Given the description of an element on the screen output the (x, y) to click on. 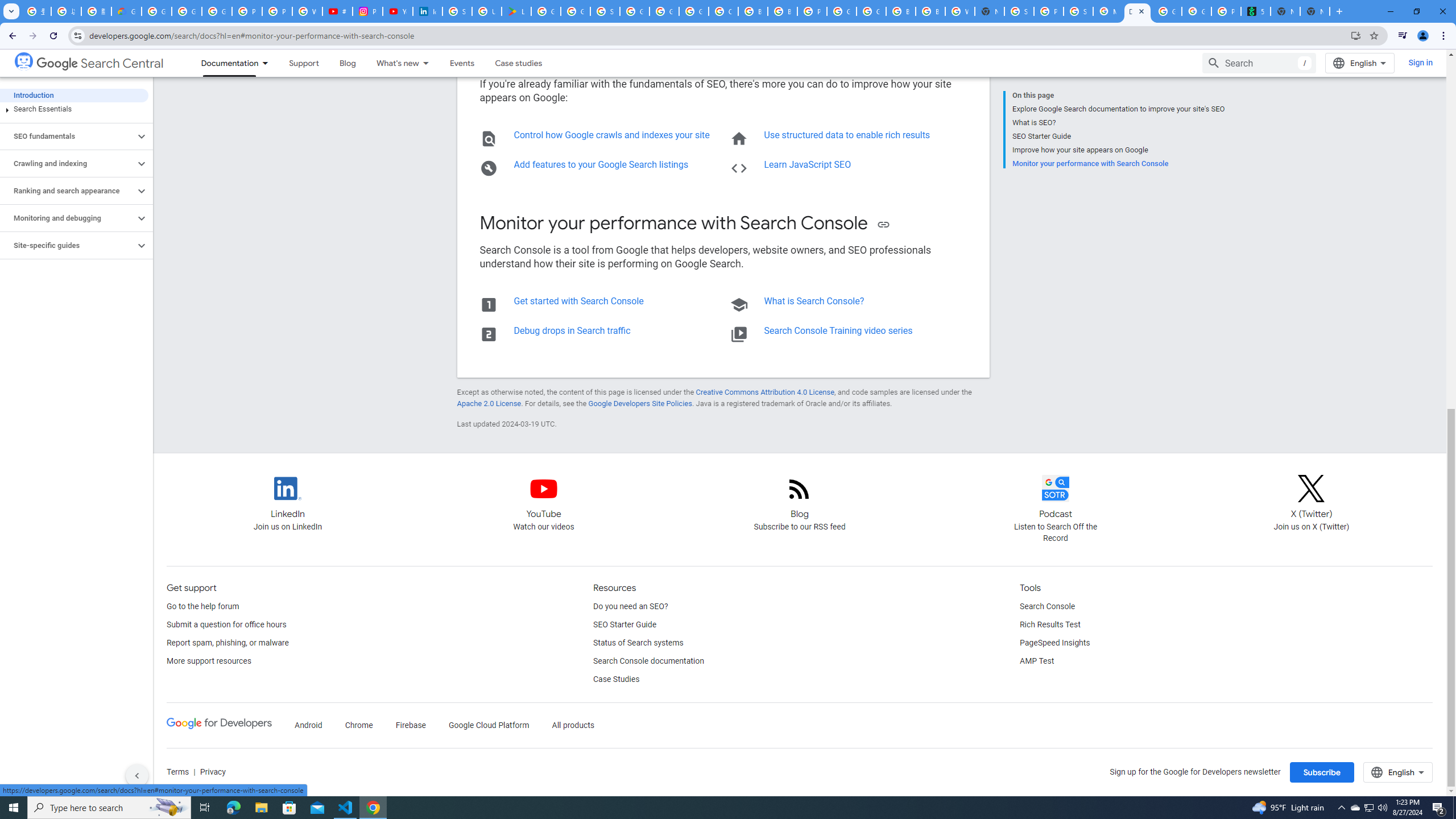
Search Console (1047, 606)
X (Twitter) (1310, 488)
Dropdown menu for Documentation (268, 62)
Google Search Central YouTube channel (543, 498)
Report spam, phishing, or malware (226, 642)
New Tab (989, 11)
Go to the help forum (201, 606)
Blog (347, 62)
Android (307, 725)
Install Google Developers (1355, 35)
